Given the description of an element on the screen output the (x, y) to click on. 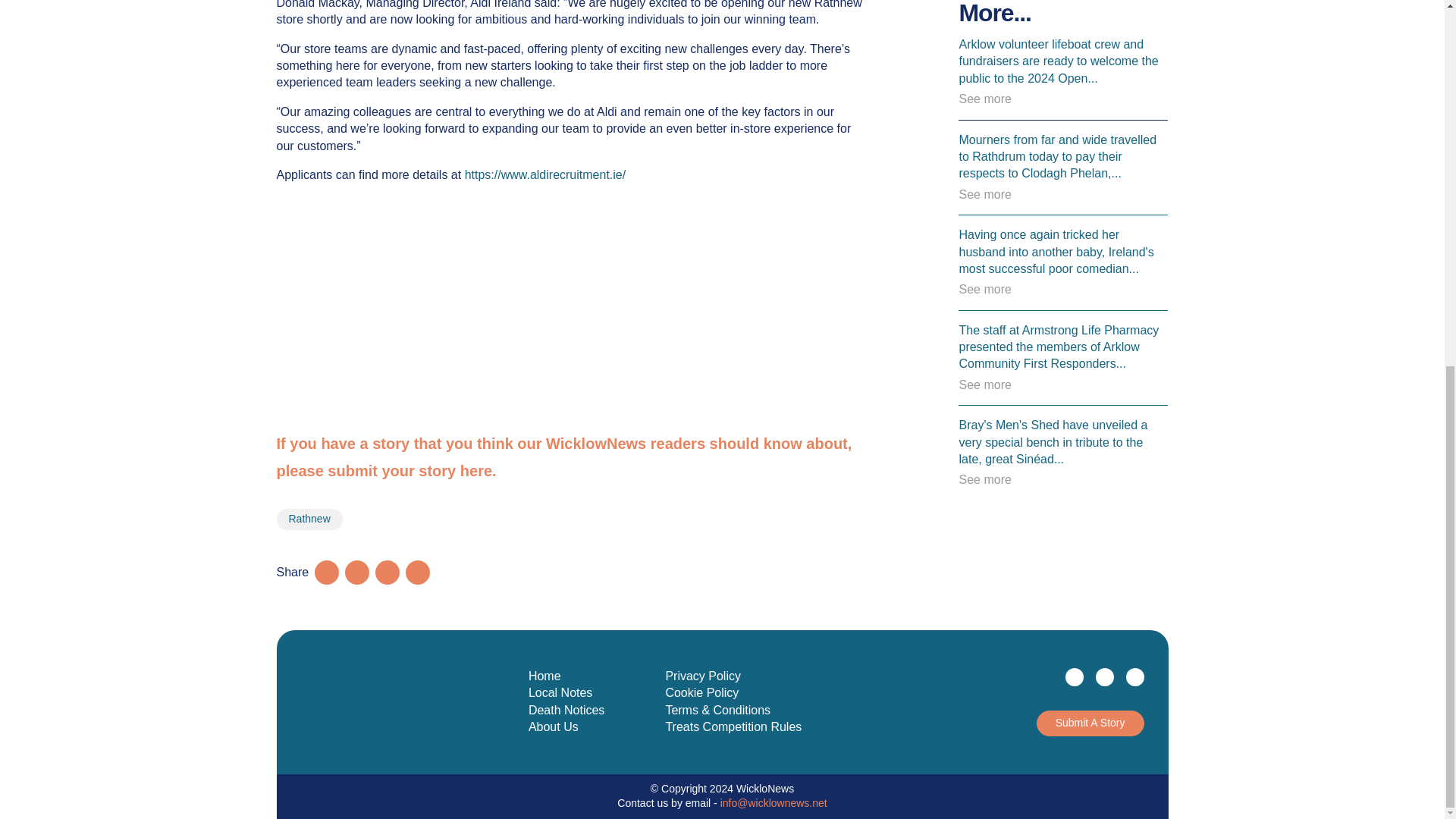
Rathnew (309, 518)
